Given the description of an element on the screen output the (x, y) to click on. 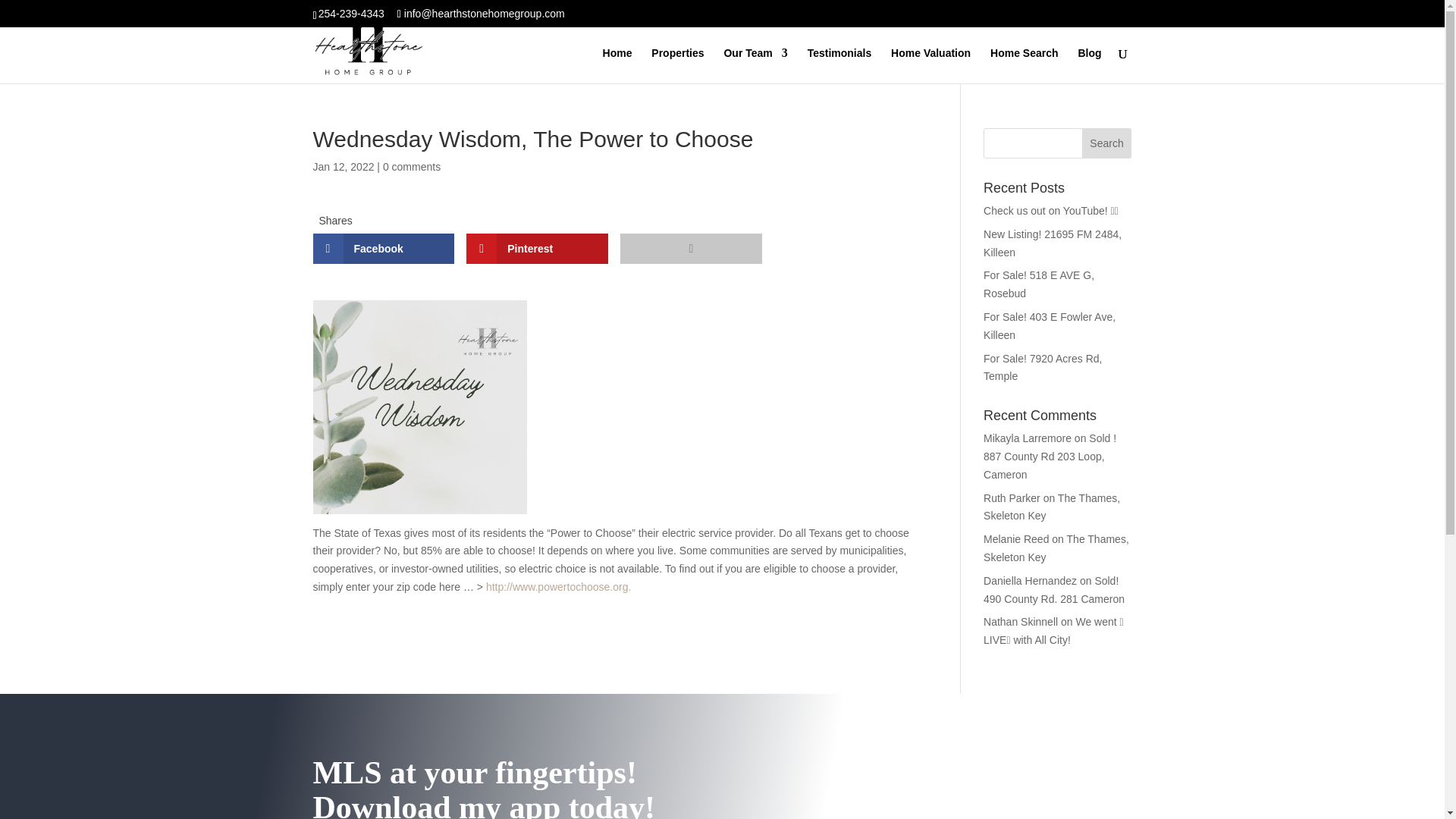
Nathan Skinnell (1021, 621)
For Sale! 7920 Acres Rd, Temple (1043, 367)
For Sale! 518 E AVE G, Rosebud (1039, 284)
Facebook (383, 248)
Our Team (755, 65)
Testimonials (840, 65)
New Listing! 21695 FM 2484, Killeen (1052, 243)
0 comments (411, 166)
Home Search (1024, 65)
Search (1106, 142)
